Given the description of an element on the screen output the (x, y) to click on. 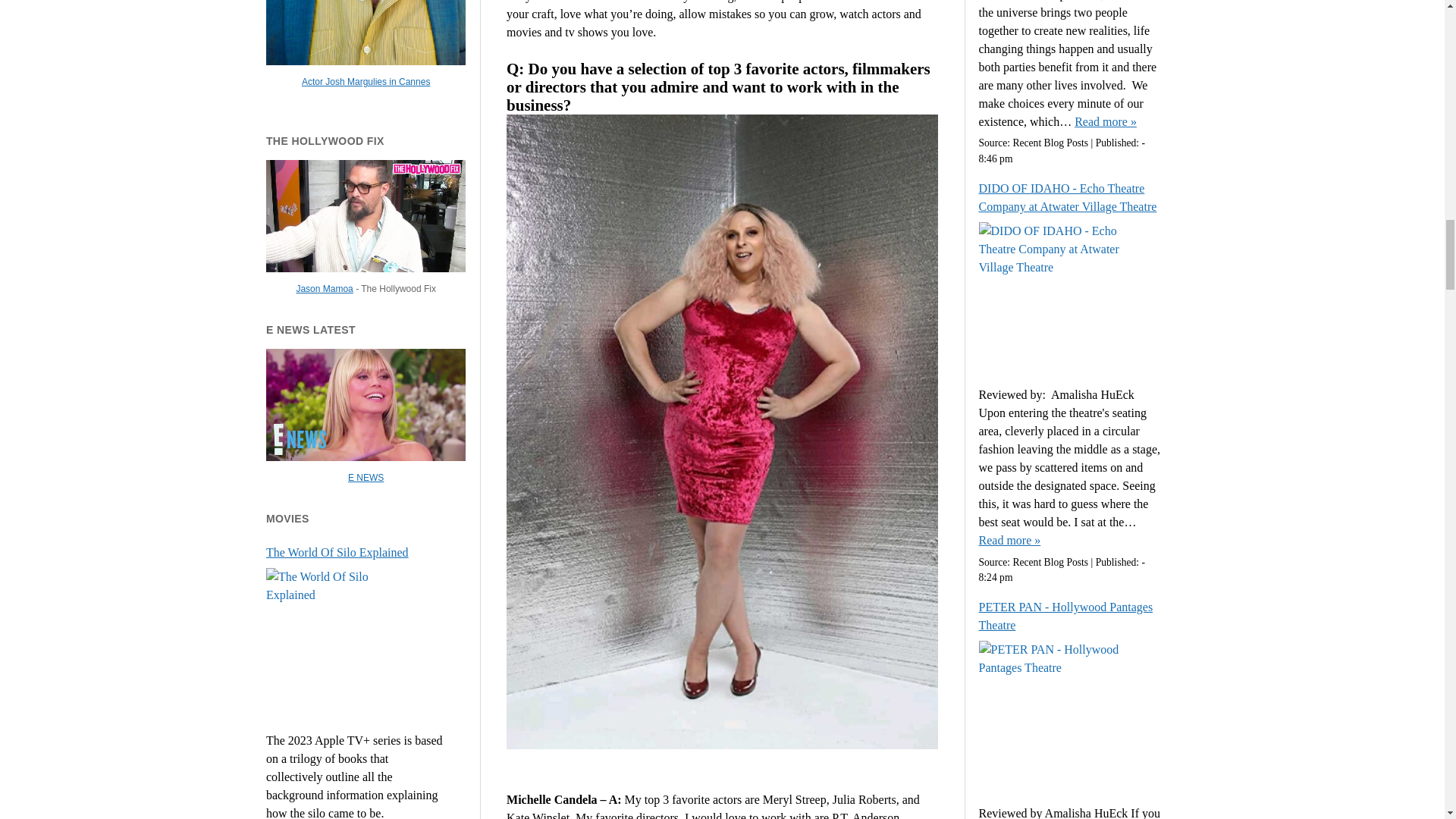
Jason Mamoa (323, 288)
The World Of Silo Explained (357, 552)
Actor Josh Margulies in Cannes (365, 81)
The World Of Silo Explained (357, 552)
E NEWS (365, 477)
